Given the description of an element on the screen output the (x, y) to click on. 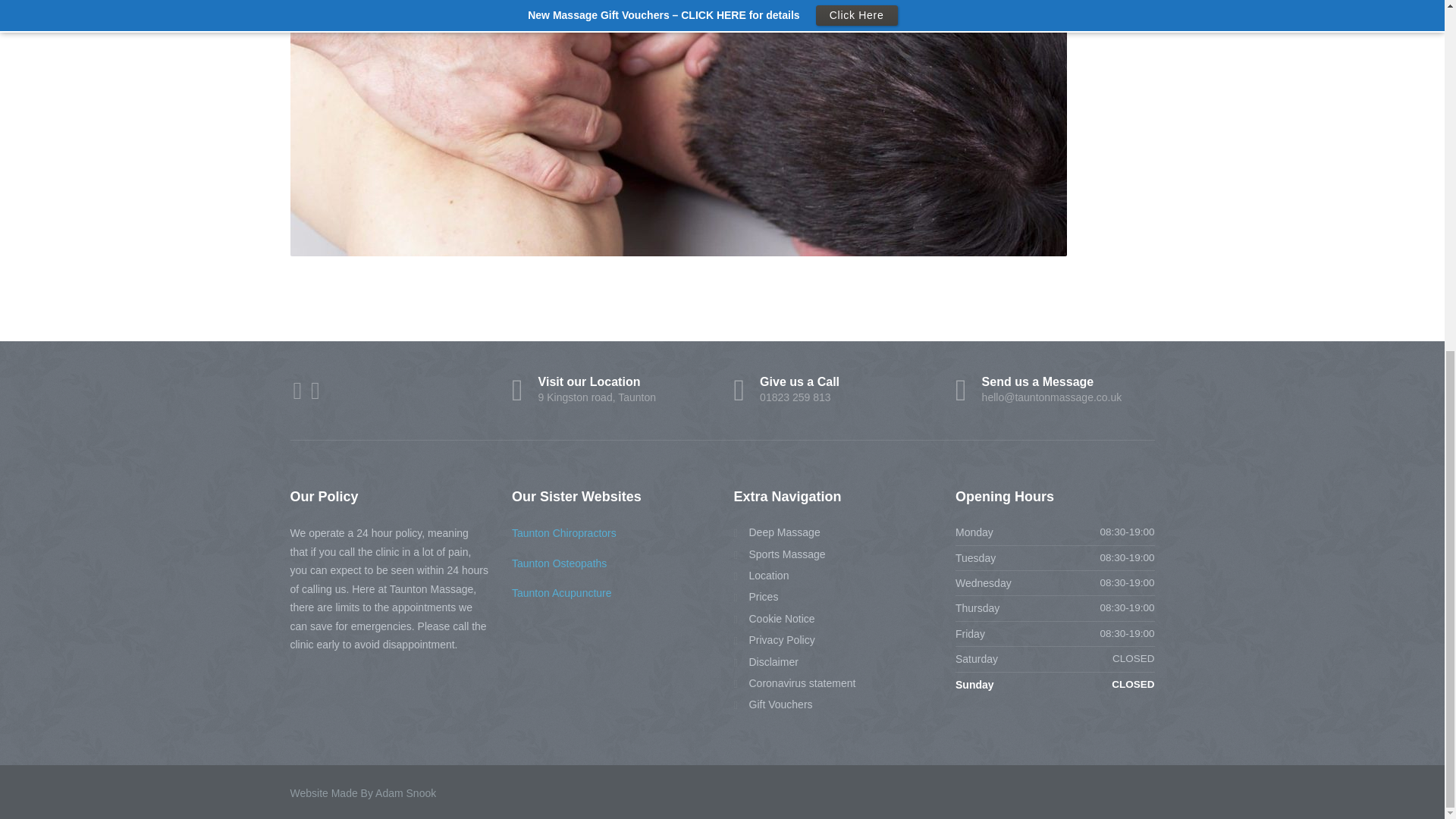
Taunton Acupuncture (561, 592)
Disclaimer (611, 390)
Privacy Policy (833, 390)
Deep Massage (765, 660)
Location (774, 639)
Cookie Notice (777, 532)
Taunton Osteopaths (761, 574)
Gift Vouchers (774, 617)
